Given the description of an element on the screen output the (x, y) to click on. 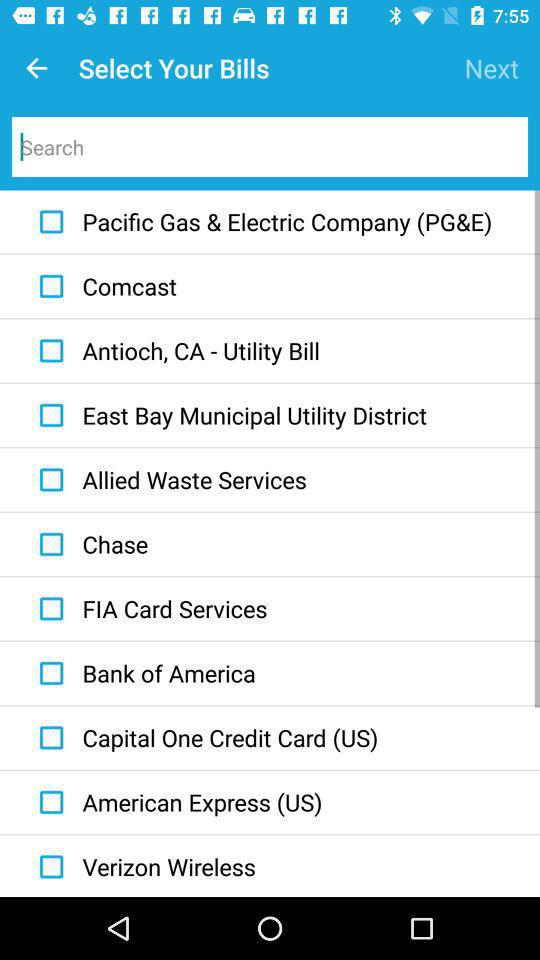
click icon to the right of select your bills item (491, 67)
